Given the description of an element on the screen output the (x, y) to click on. 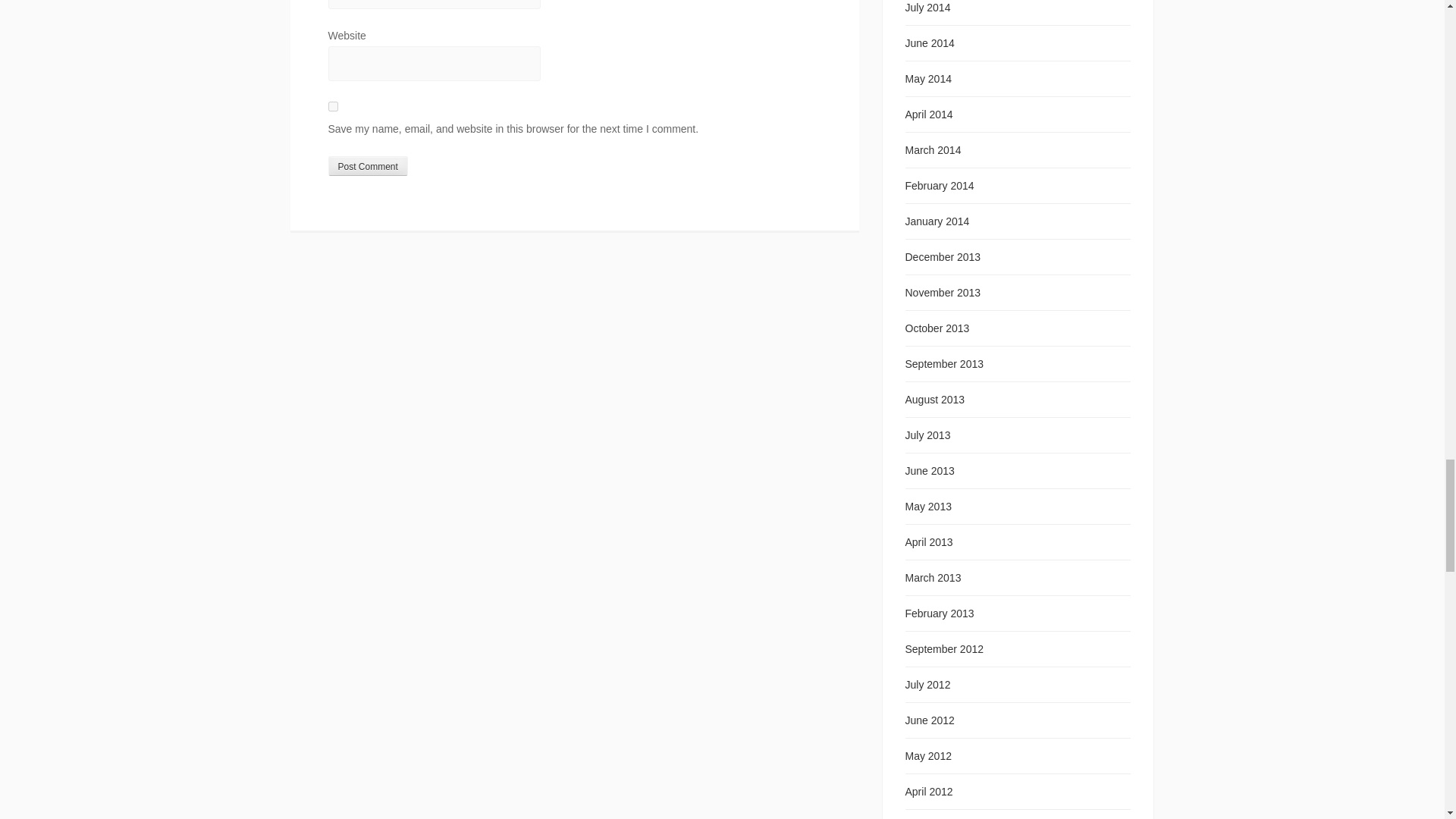
Post Comment (367, 166)
Post Comment (367, 166)
yes (332, 106)
